Given the description of an element on the screen output the (x, y) to click on. 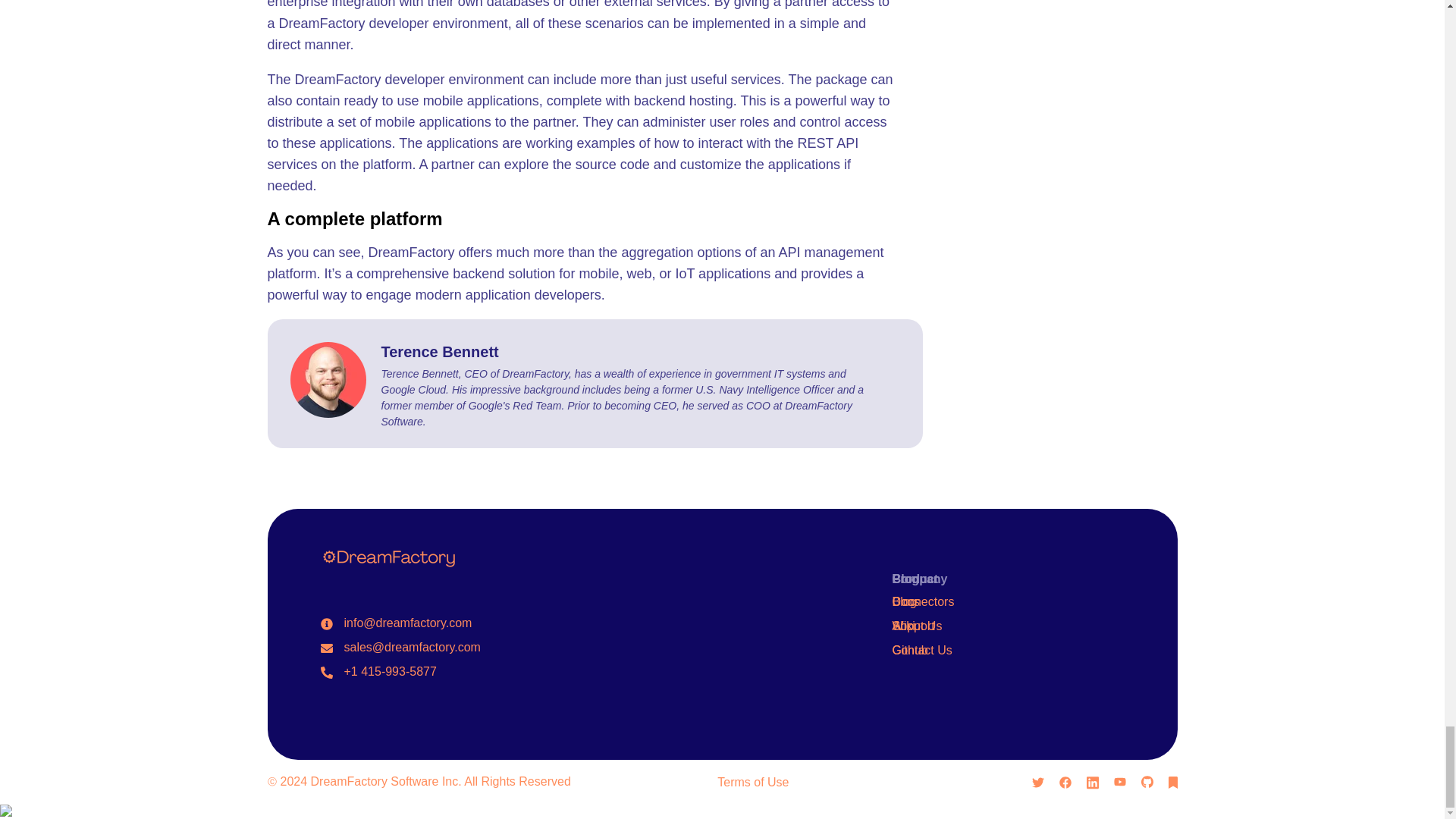
Connectors (923, 601)
Terence Bennett (438, 351)
About Us (917, 625)
Company (919, 578)
Blog (904, 601)
Support (913, 625)
Contact Us (922, 649)
Product (914, 578)
